Given the description of an element on the screen output the (x, y) to click on. 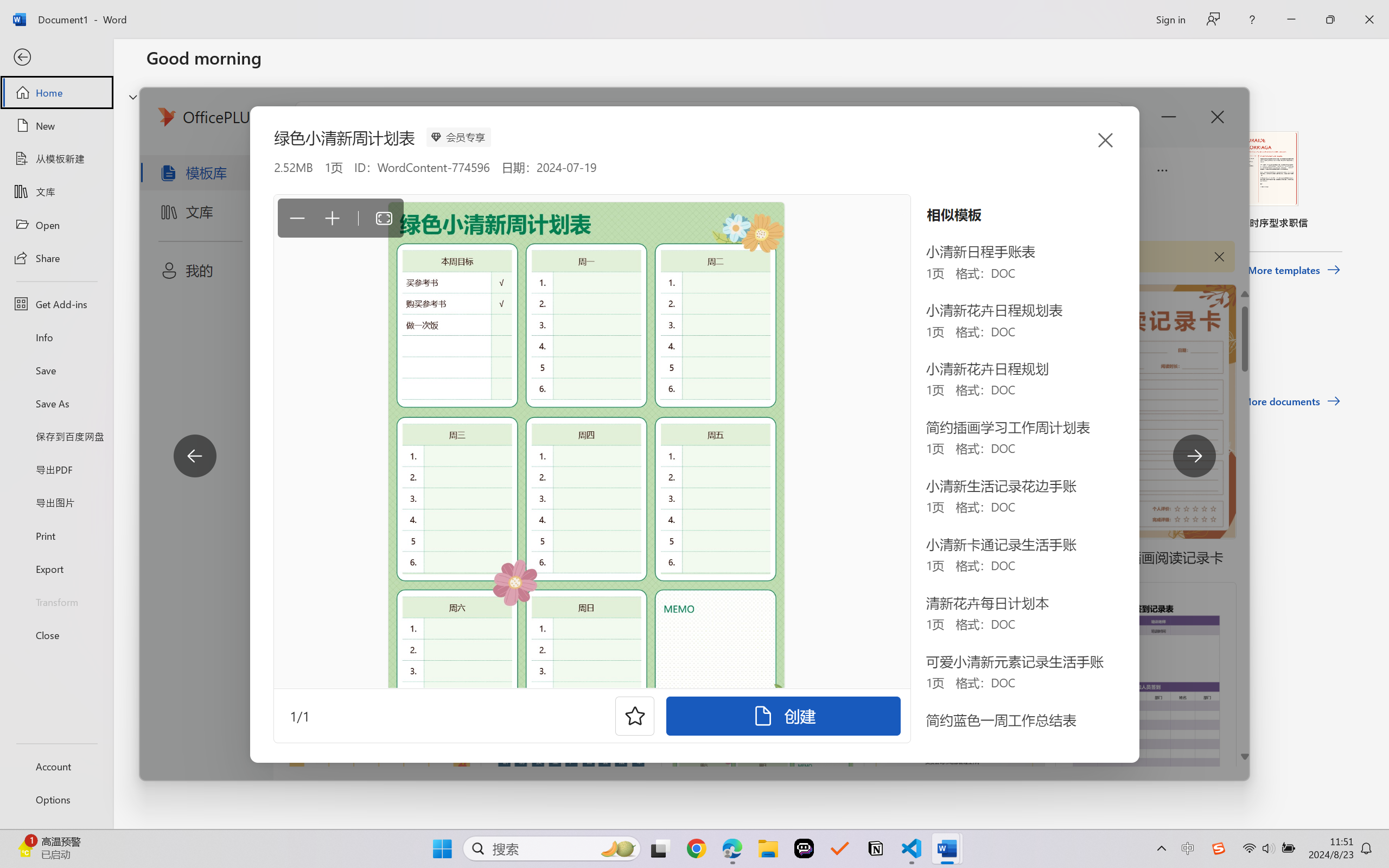
Transform (56, 601)
New (56, 125)
Shared with Me (305, 345)
Sign in (1170, 18)
Options (56, 798)
Save As (56, 403)
Get Add-ins (56, 303)
